Given the description of an element on the screen output the (x, y) to click on. 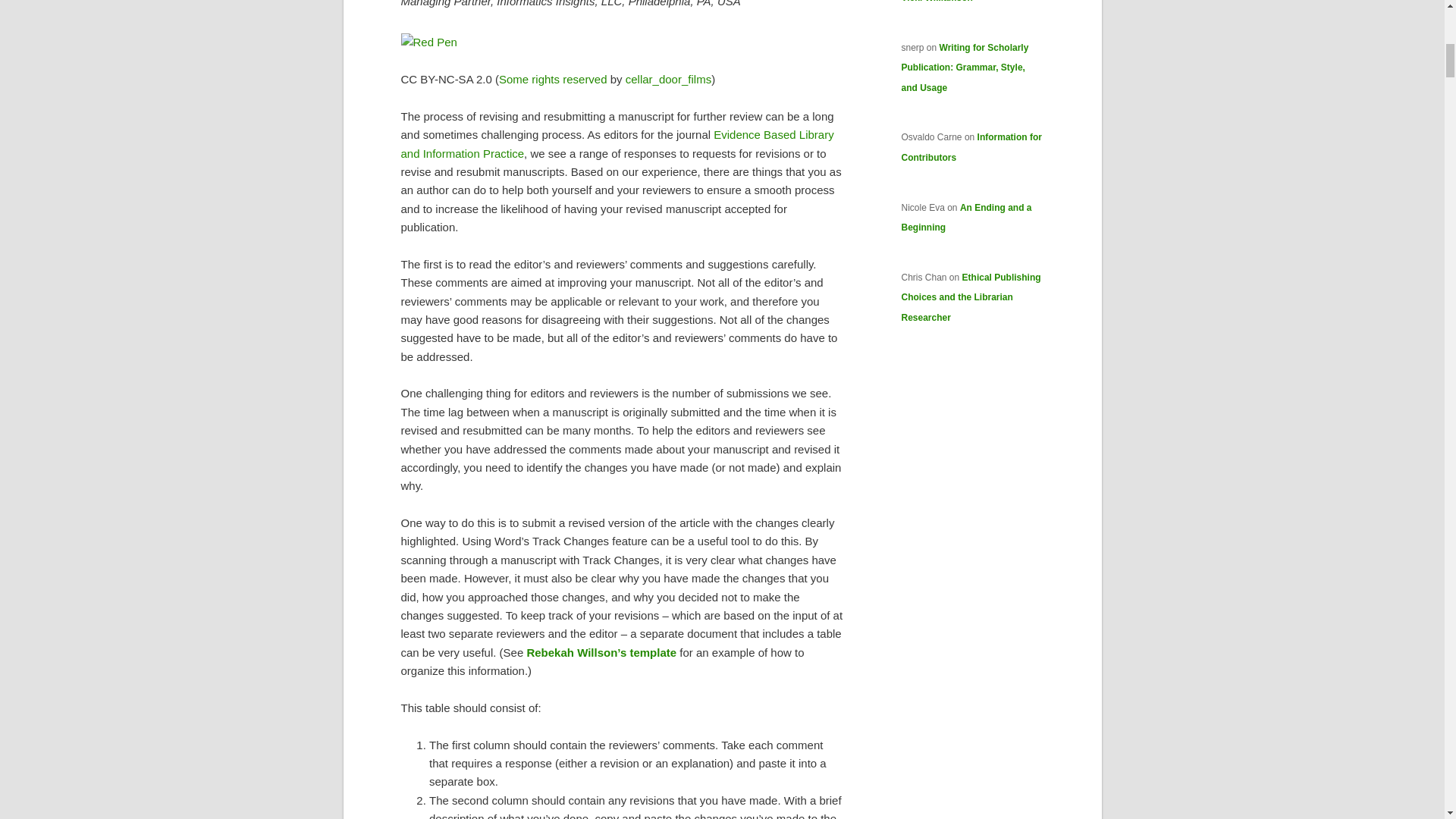
Attribution-NonCommercial-ShareAlike License (553, 78)
Evidence Based Library and Information Practice (616, 142)
Some rights reserved (553, 78)
